Given the description of an element on the screen output the (x, y) to click on. 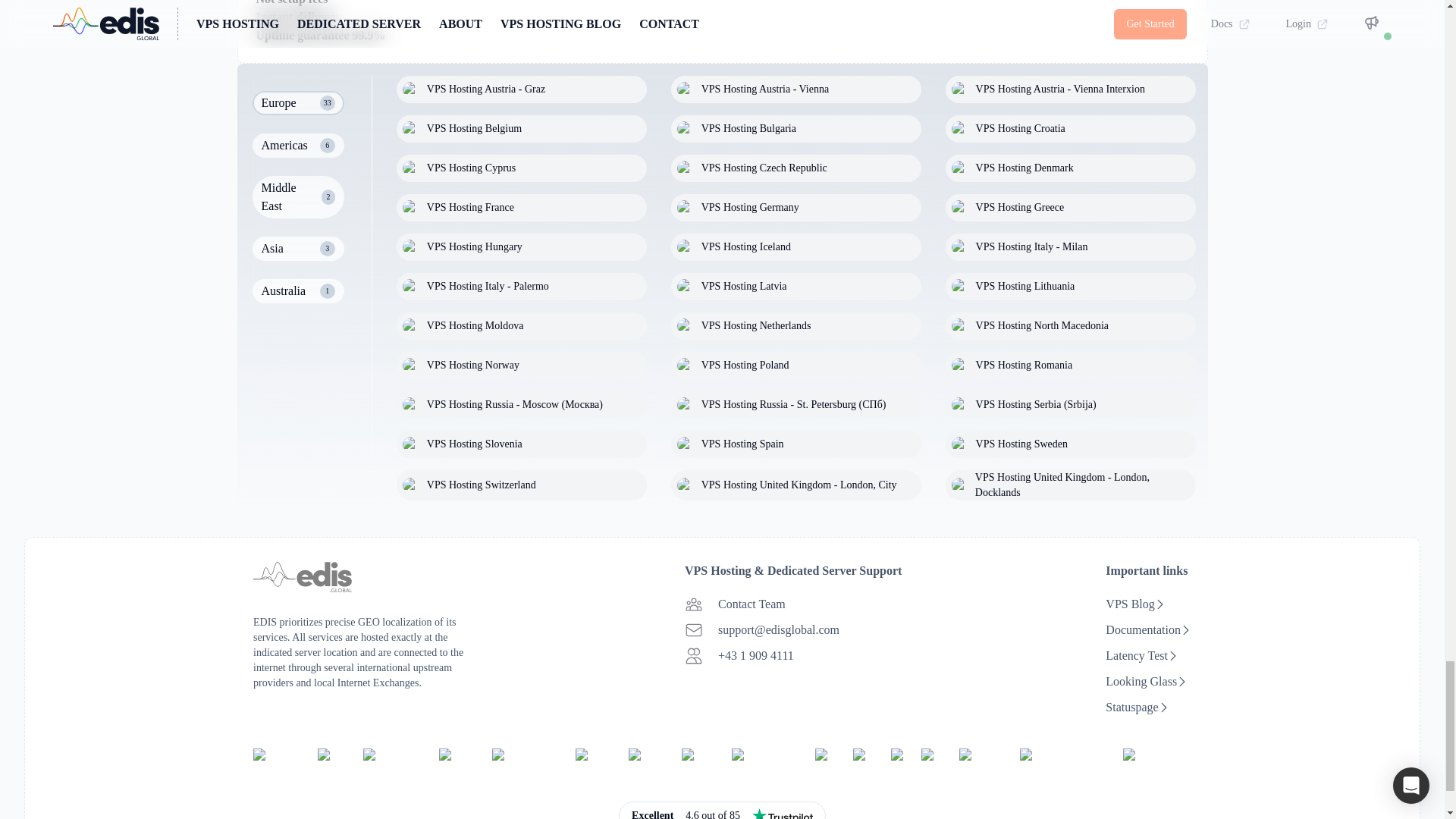
Belgium VPS, Buy Cheap Belgium Server (521, 128)
Croatia VPS, Buy Cheap VPS Hosting (1069, 128)
Cyprus VPS: High-Quality Global Connectivity for Businesses (521, 167)
VPS Austria, VPS Server Hosting (1069, 89)
VPS Bulgaria, Cheap Bulgaria Server Hosting (796, 128)
